Given the description of an element on the screen output the (x, y) to click on. 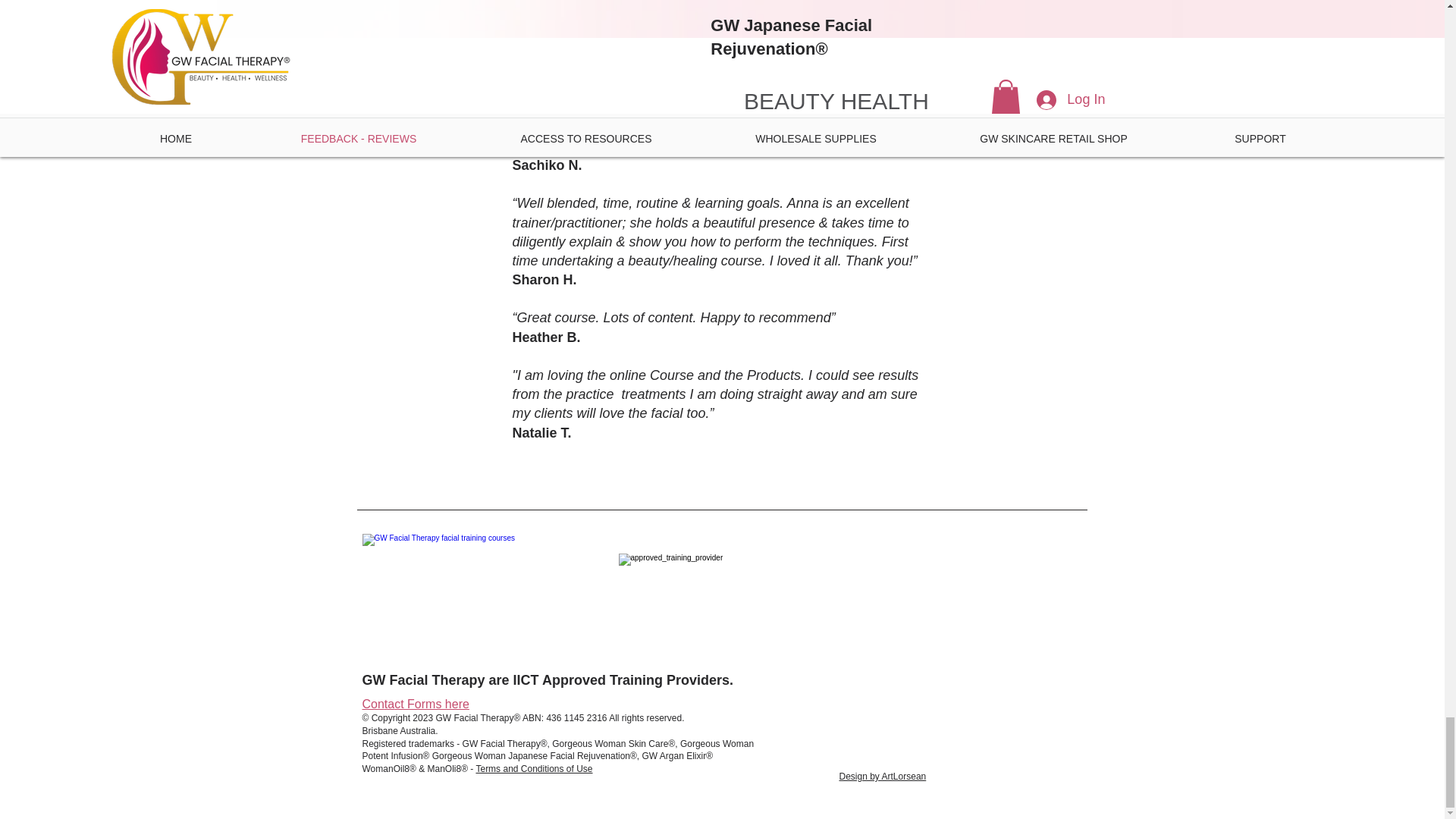
Con (373, 705)
Terms and Conditions of Use (534, 768)
Design by ArtLorsean (882, 776)
ta (389, 705)
ct Forms here (431, 705)
